Given the description of an element on the screen output the (x, y) to click on. 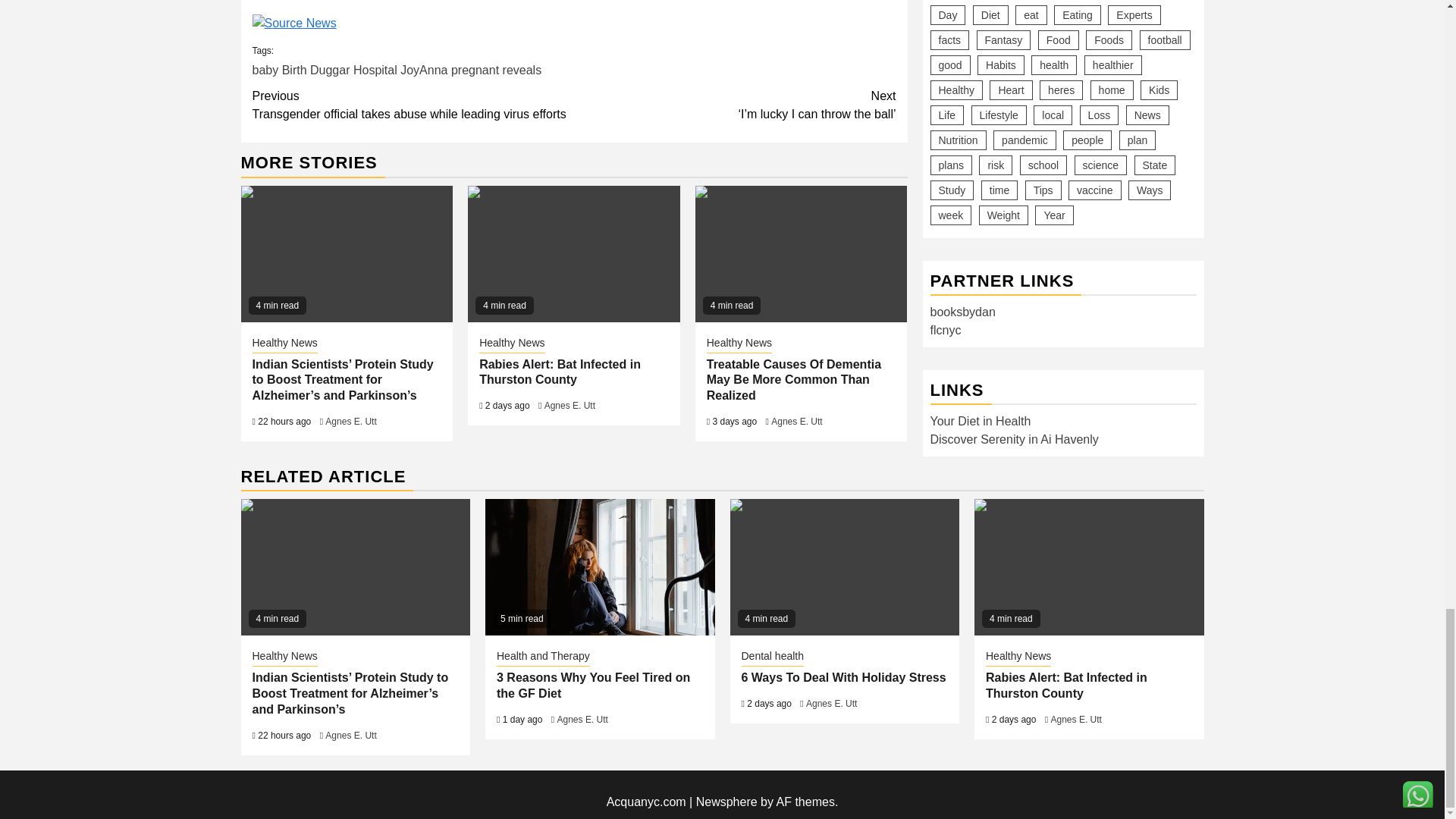
Healthy News (284, 343)
JoyAnna (423, 69)
Duggar (329, 69)
reveals (521, 69)
Tags: (573, 60)
baby (264, 69)
Birth (294, 69)
3 Reasons Why You Feel Tired on the GF Diet (599, 566)
